Given the description of an element on the screen output the (x, y) to click on. 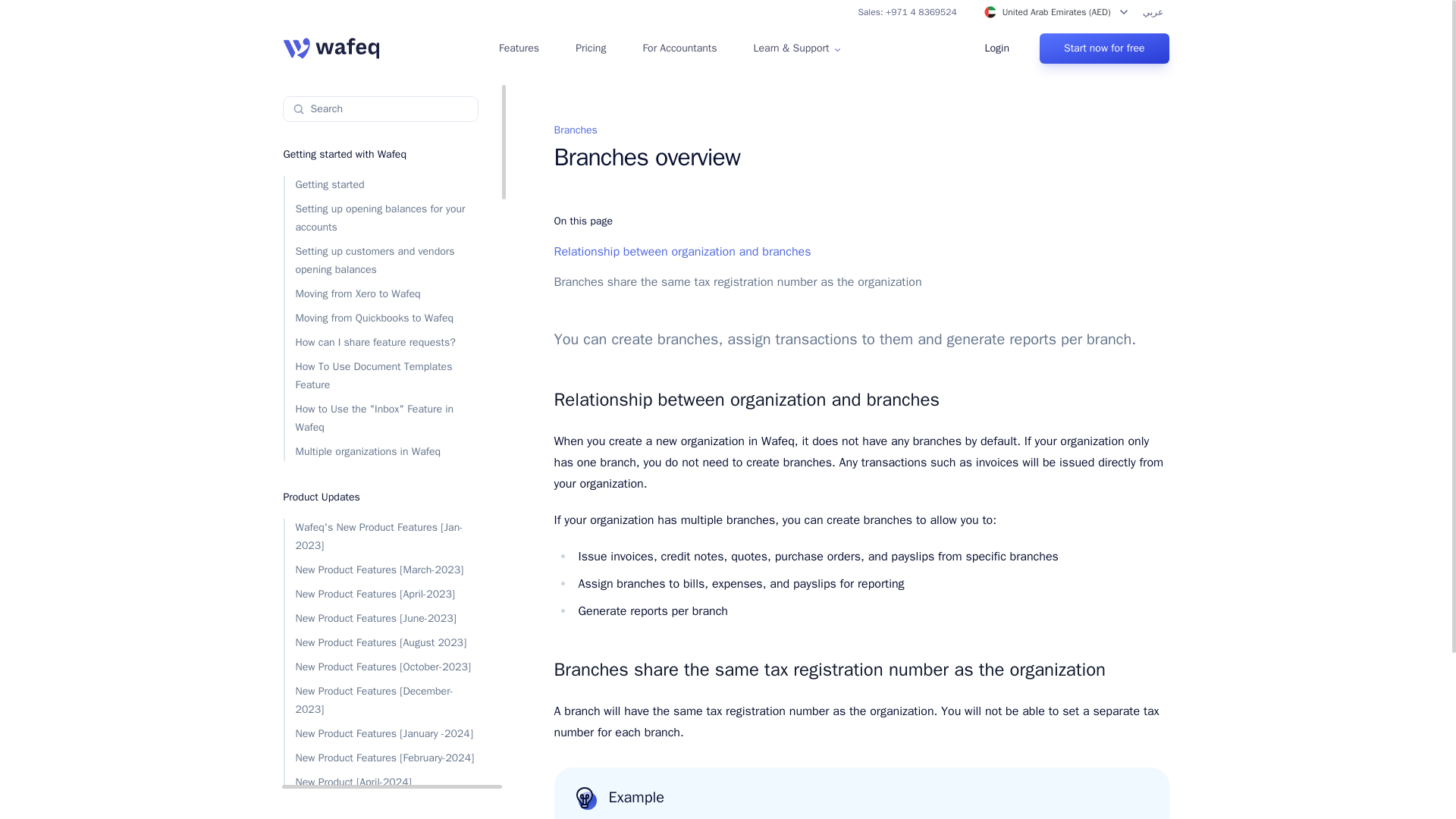
Pricing (590, 48)
For Accountants (679, 48)
How can I share feature requests? (381, 342)
Features (518, 48)
Multiple organizations in Wafeq (381, 452)
Moving from Xero to Wafeq (381, 294)
Moving from Quickbooks to Wafeq (381, 318)
How to Use the "Inbox" Feature in Wafeq (381, 418)
Getting started (381, 185)
